Given the description of an element on the screen output the (x, y) to click on. 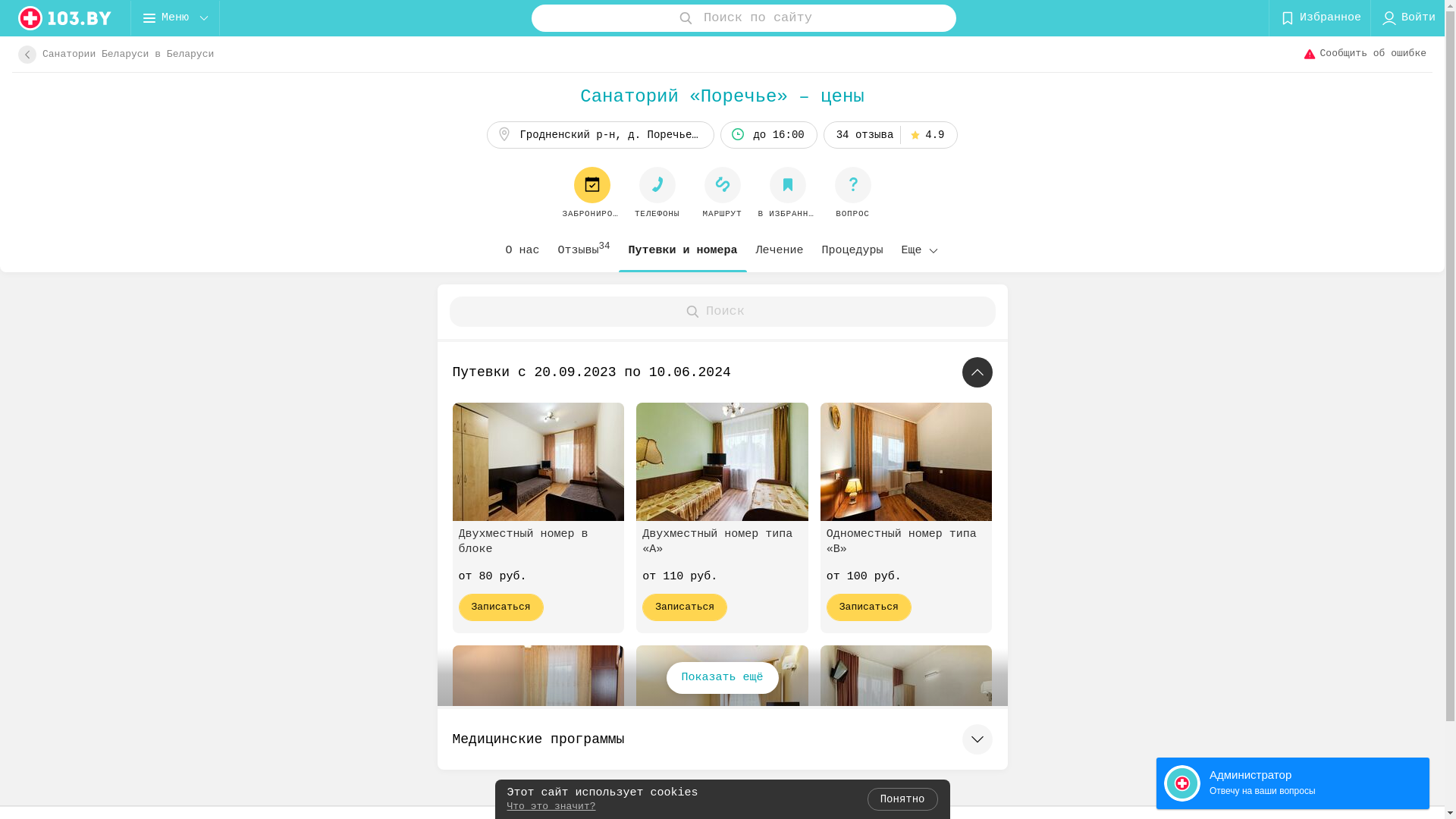
logo Element type: hover (65, 18)
